Given the description of an element on the screen output the (x, y) to click on. 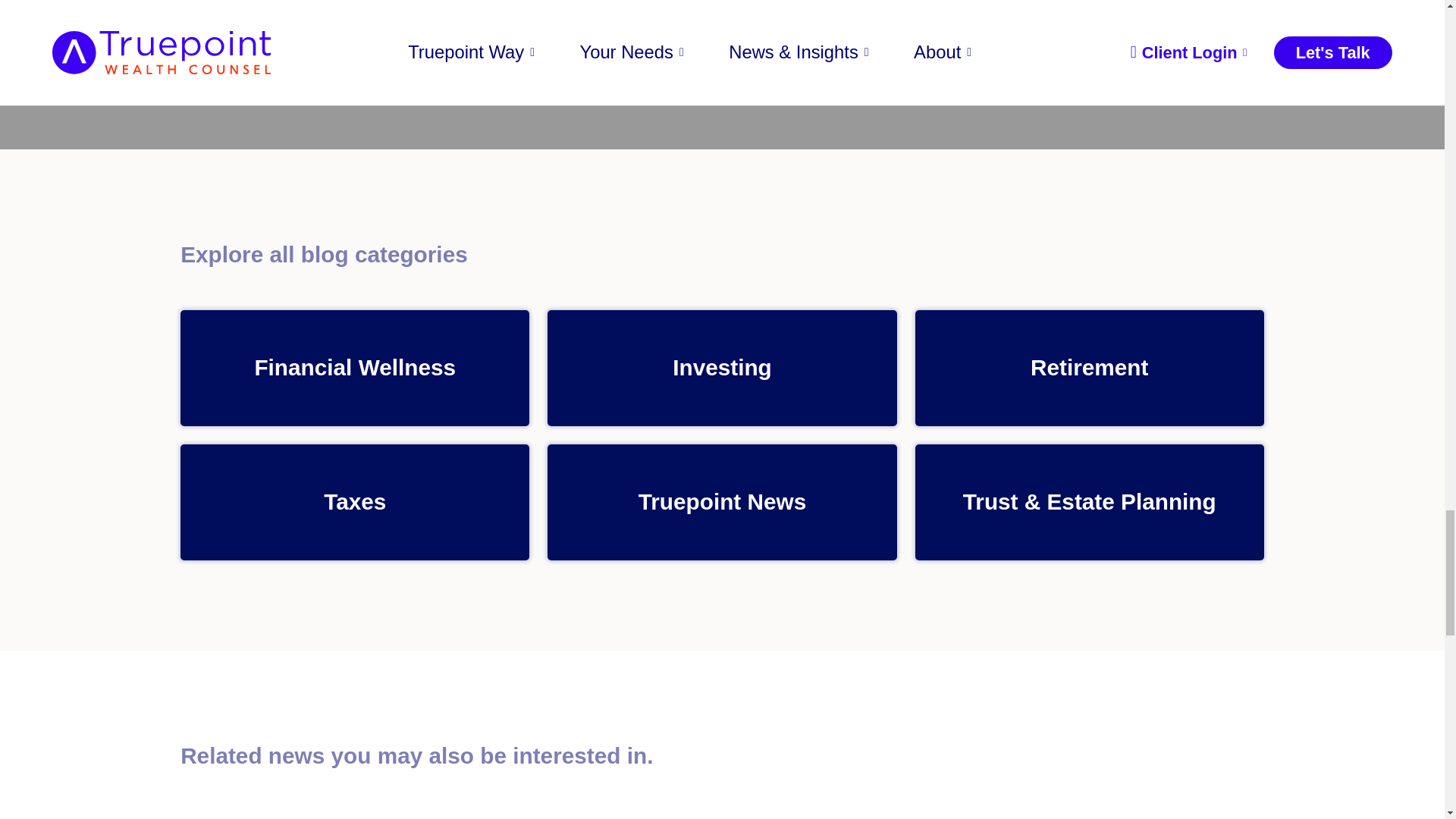
Investing (721, 367)
Taxes (354, 502)
Retirement (1089, 367)
Retirement (1089, 367)
Taxes (354, 502)
Investing (721, 367)
Financial Wellness (354, 367)
Truepoint News (721, 502)
Related news you may also be interested in. (721, 756)
Explore all blog categories (721, 254)
Financial Wellness (354, 367)
